Given the description of an element on the screen output the (x, y) to click on. 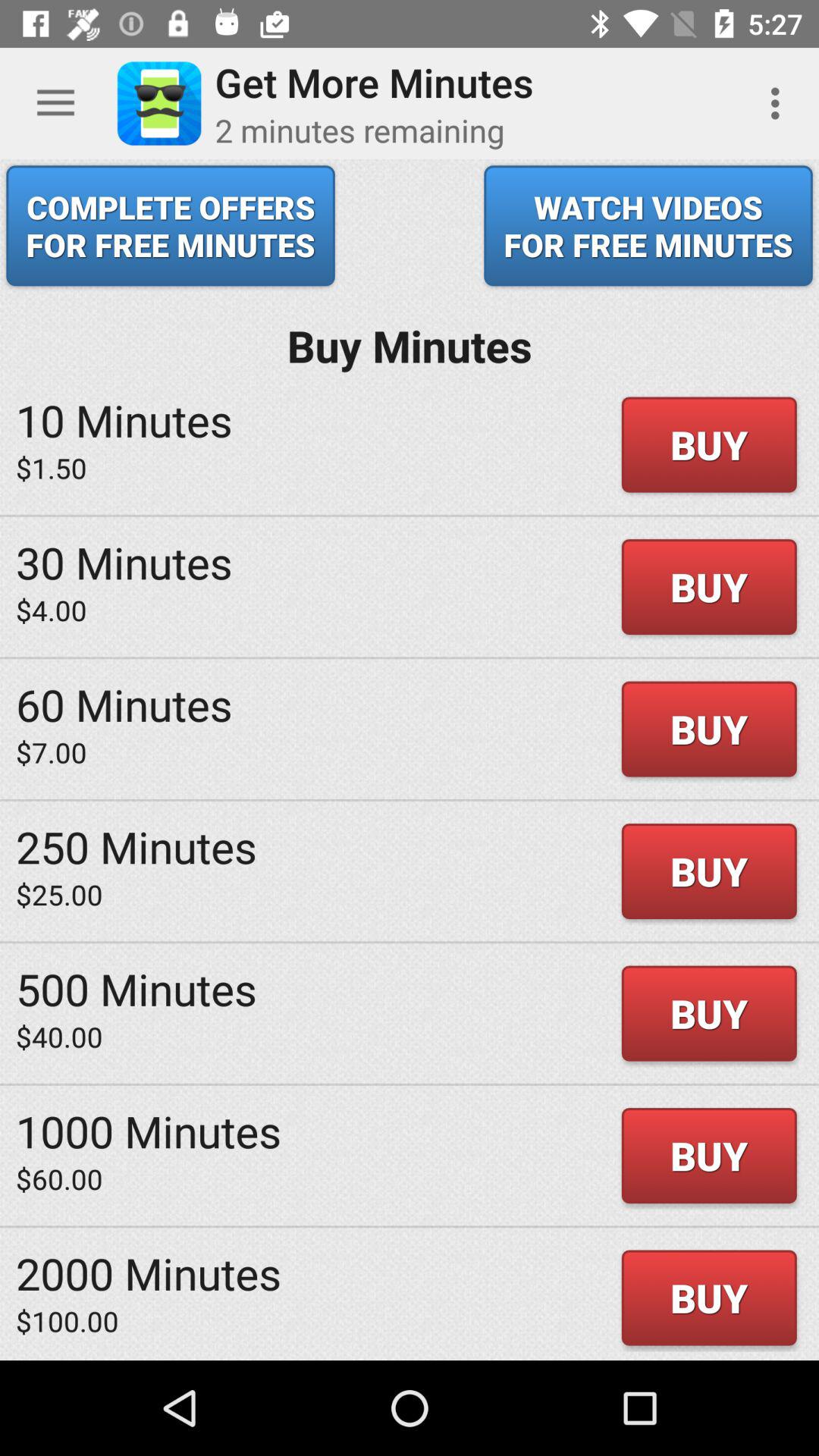
select the icon above the $7.00 icon (123, 704)
